Given the description of an element on the screen output the (x, y) to click on. 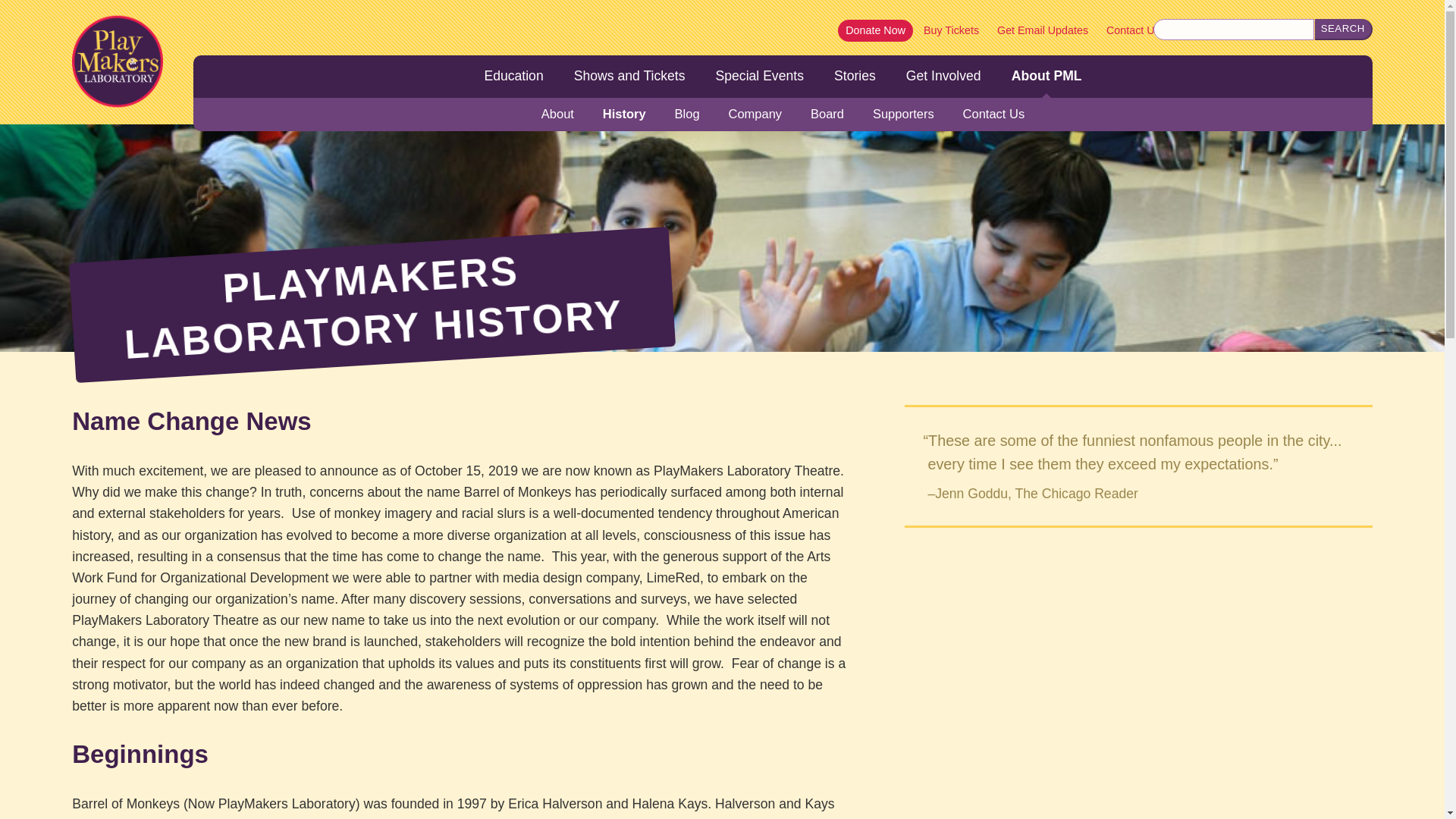
Shows and Tickets (629, 75)
Donate Now (875, 30)
Blog (686, 114)
About PML (1045, 75)
Search (1343, 29)
Contact Us (993, 114)
History (623, 114)
Buy Tickets (951, 30)
Board (827, 114)
Special Events (758, 75)
Supporters (903, 114)
Get Involved (943, 75)
Search (1343, 29)
Education (513, 75)
Stories (854, 75)
